Given the description of an element on the screen output the (x, y) to click on. 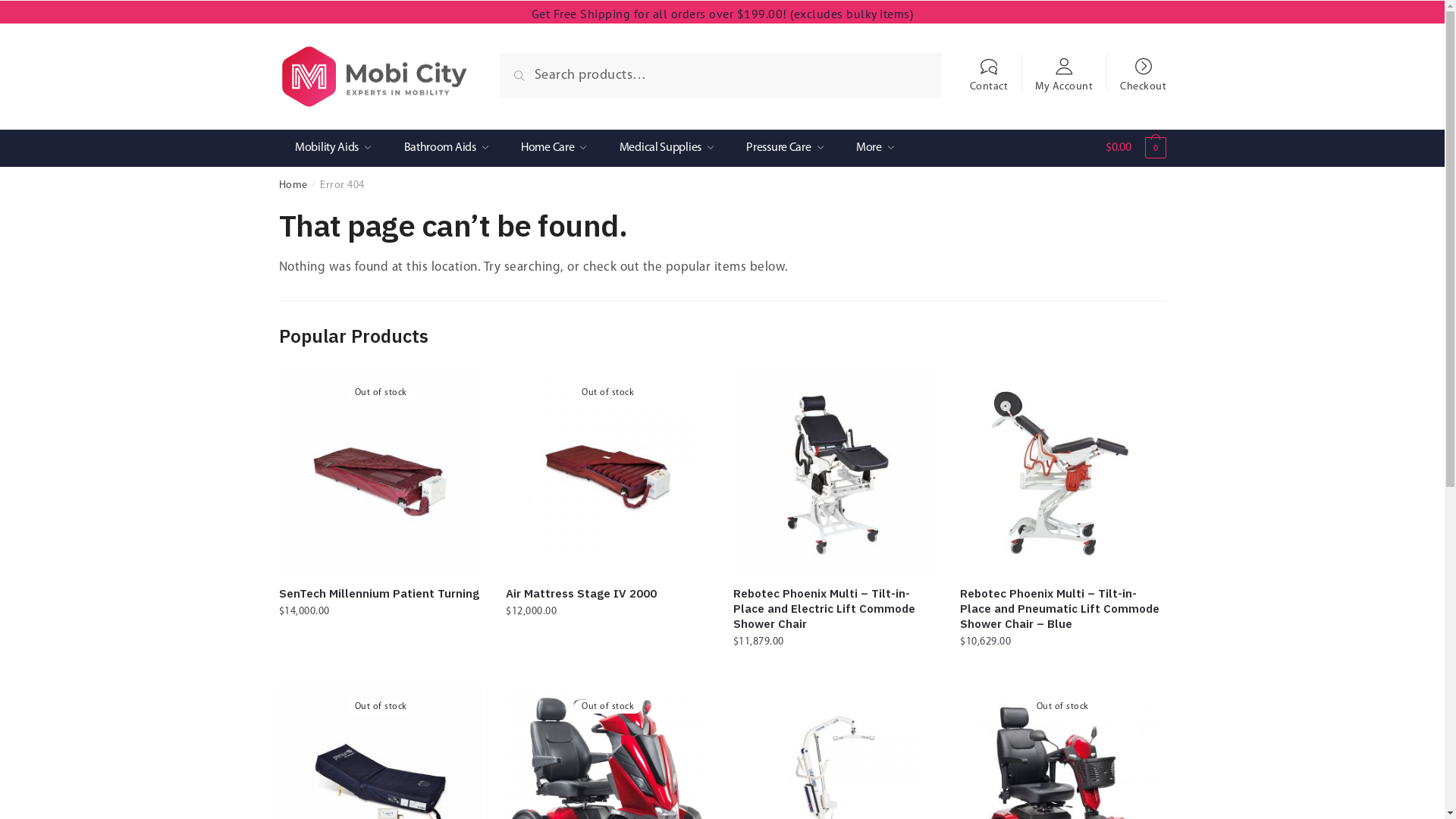
Medical Supplies Element type: text (665, 147)
SenTech Millennium Patient Turning Element type: text (381, 593)
Search Element type: text (535, 70)
Contact Element type: text (988, 67)
Home Care Element type: text (553, 147)
More Element type: text (874, 147)
My Account Element type: text (1064, 67)
Air Mattress Stage IV 2000 Element type: text (607, 593)
Bathroom Aids Element type: text (445, 147)
$0.00 0 Element type: text (1135, 152)
Home Element type: text (293, 185)
Out of stock Element type: text (607, 474)
Mobility Aids Element type: text (333, 147)
Out of stock Element type: text (381, 474)
Checkout Element type: text (1143, 67)
Pressure Care Element type: text (784, 147)
